Given the description of an element on the screen output the (x, y) to click on. 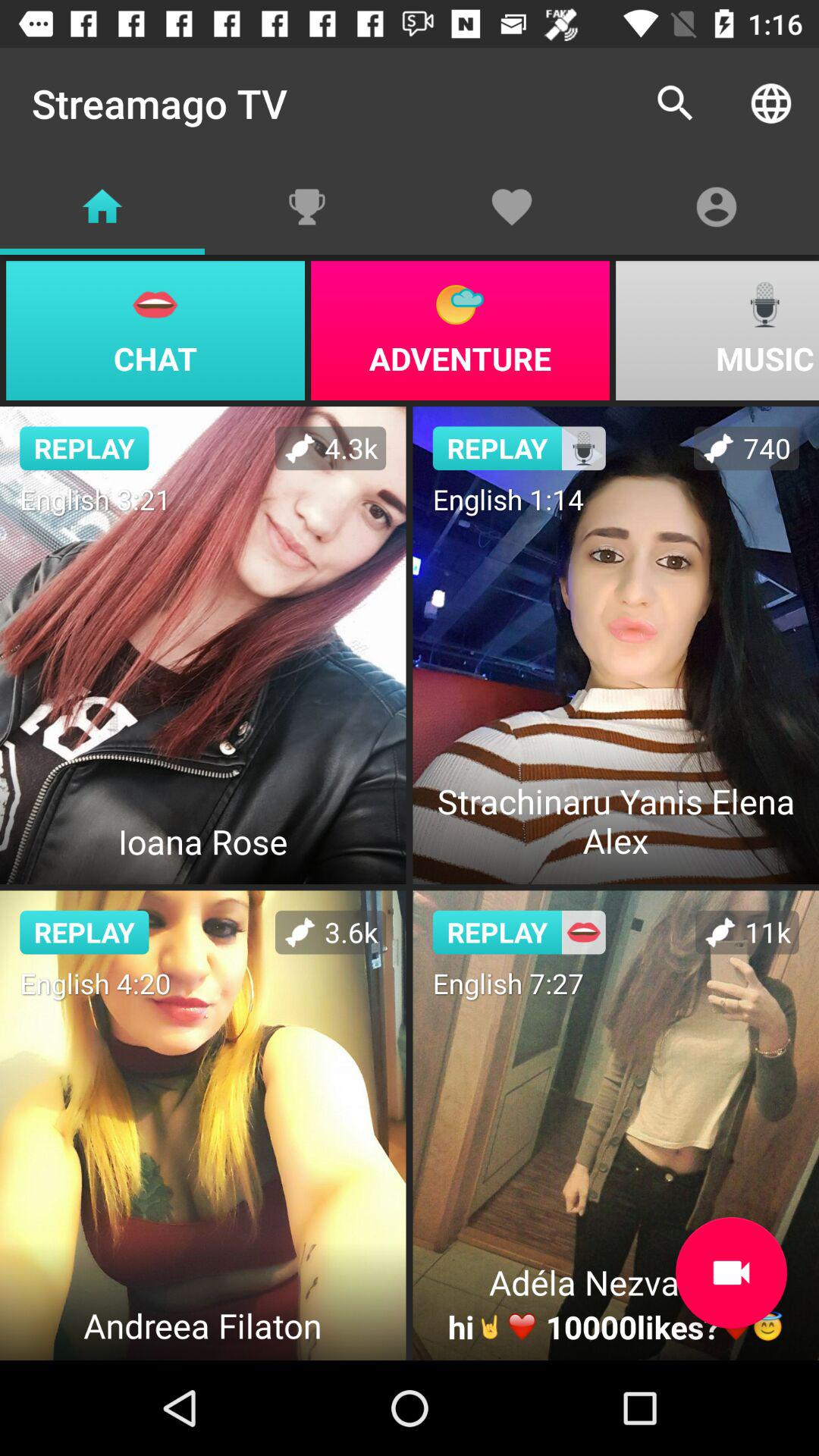
start video chat option (731, 1272)
